Given the description of an element on the screen output the (x, y) to click on. 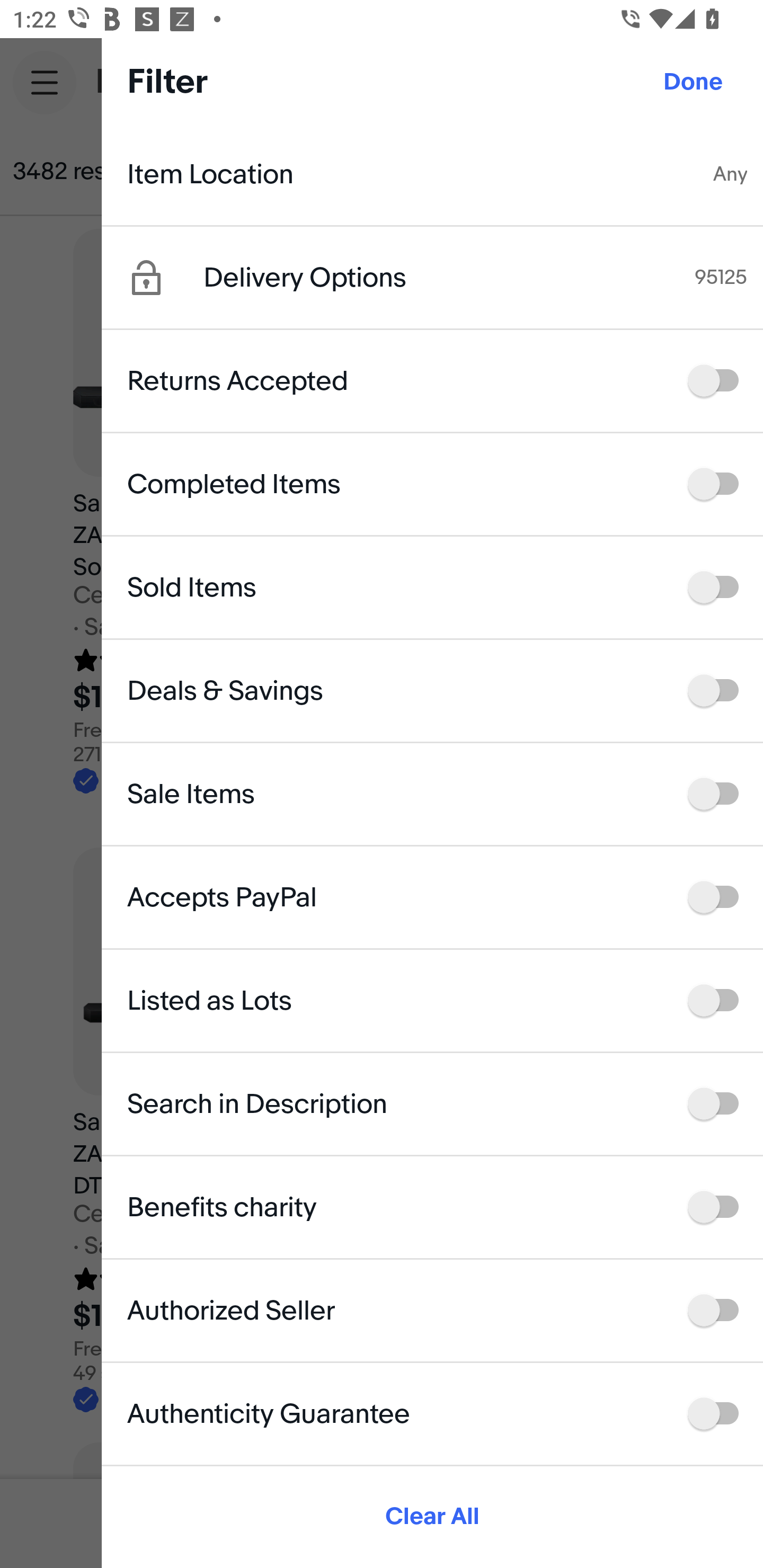
Done (693, 82)
Lock Delivery Options refinement (165, 277)
Clear All (432, 1516)
